Given the description of an element on the screen output the (x, y) to click on. 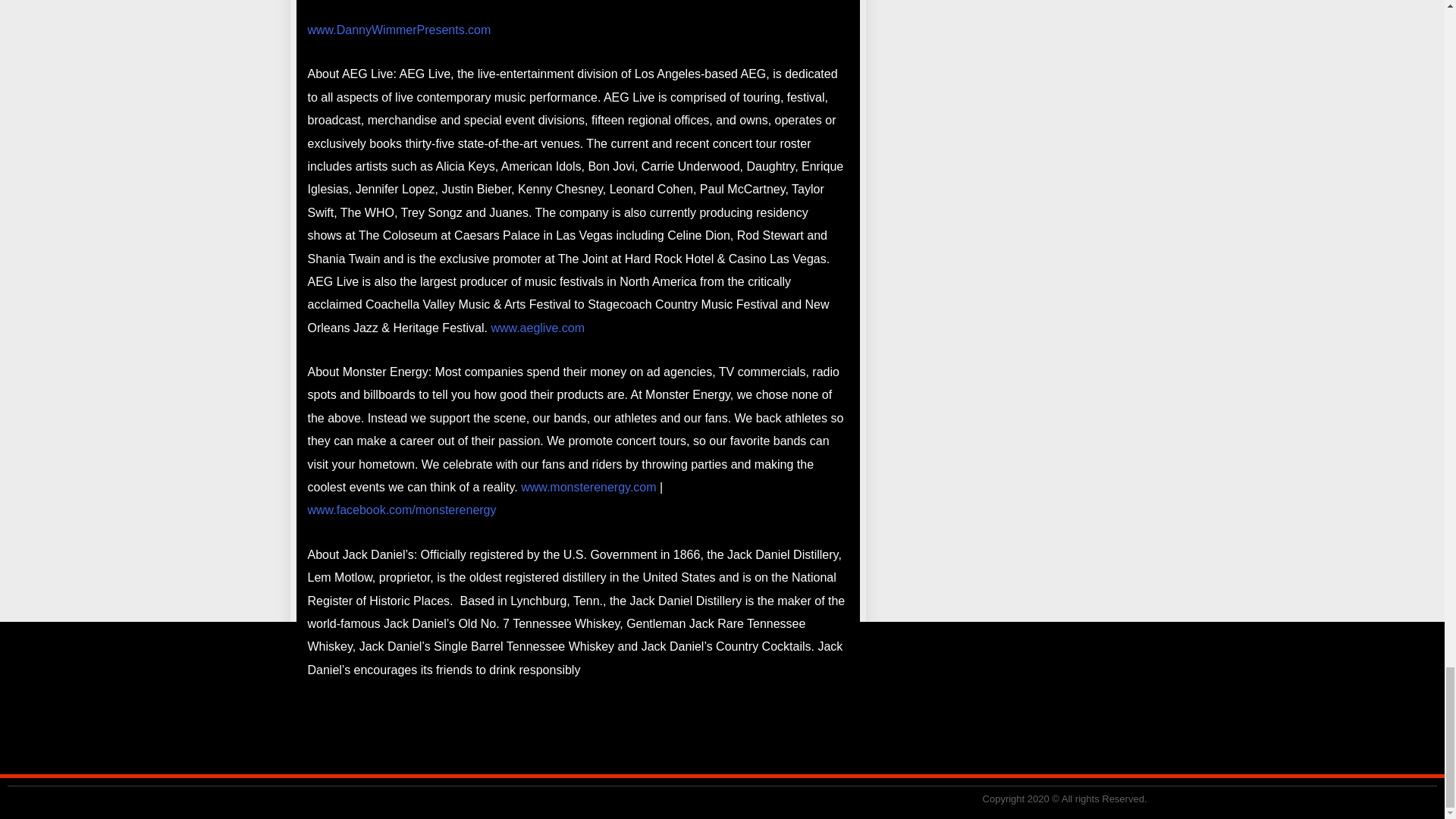
www.DannyWimmerPresents.com (399, 29)
www.aeglive.com (537, 327)
www.monsterenergy.com (588, 486)
